Given the description of an element on the screen output the (x, y) to click on. 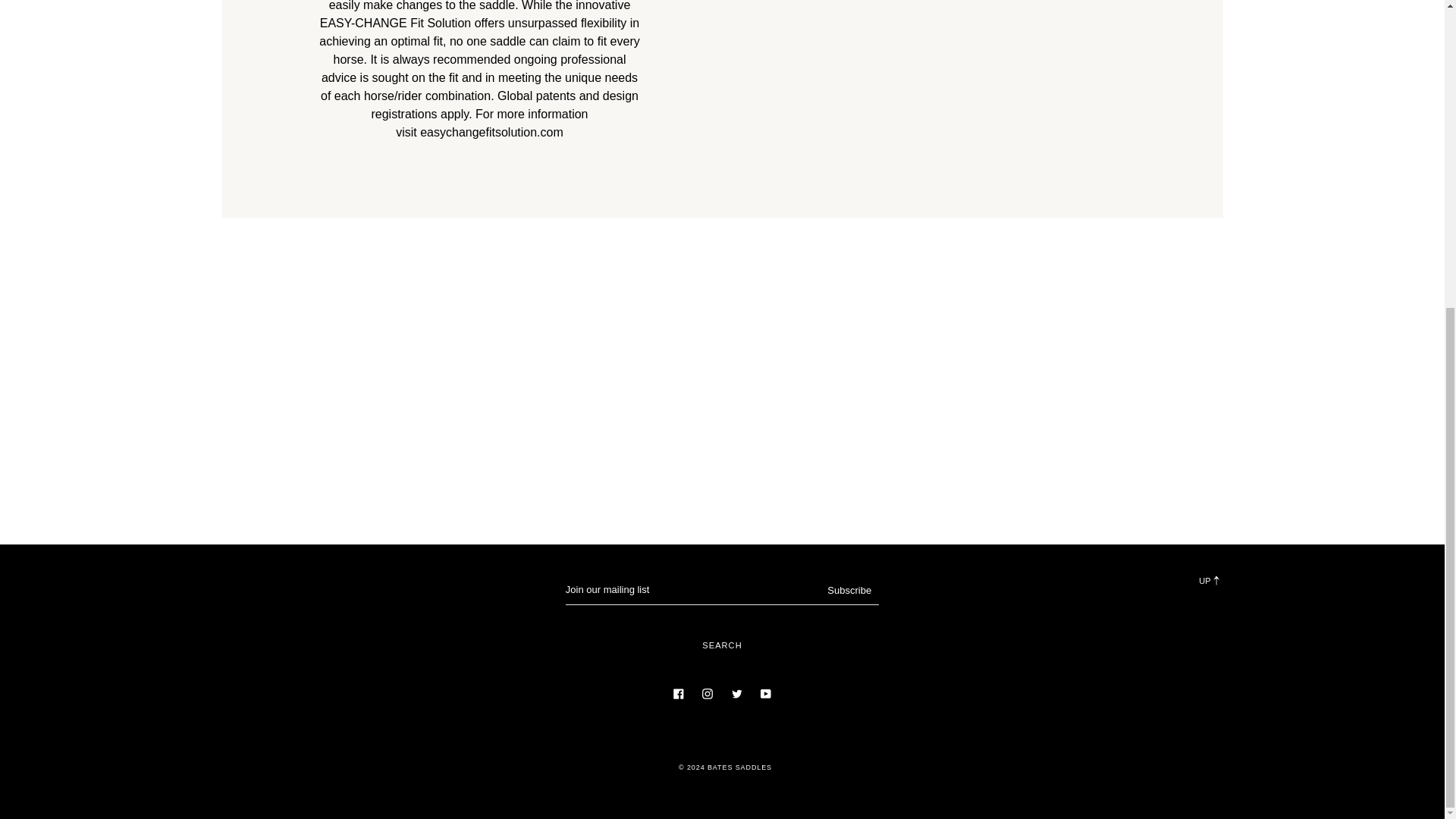
Subscribe (849, 590)
SEARCH (721, 645)
Bates Saddles on Instagram (707, 692)
Twitter (736, 692)
UP (1065, 581)
Bates Saddles on YouTube (765, 692)
Facebook (678, 692)
YouTube (765, 692)
Bates Saddles on Facebook (678, 692)
Bates Saddles on Twitter (736, 692)
Instagram (707, 692)
